Given the description of an element on the screen output the (x, y) to click on. 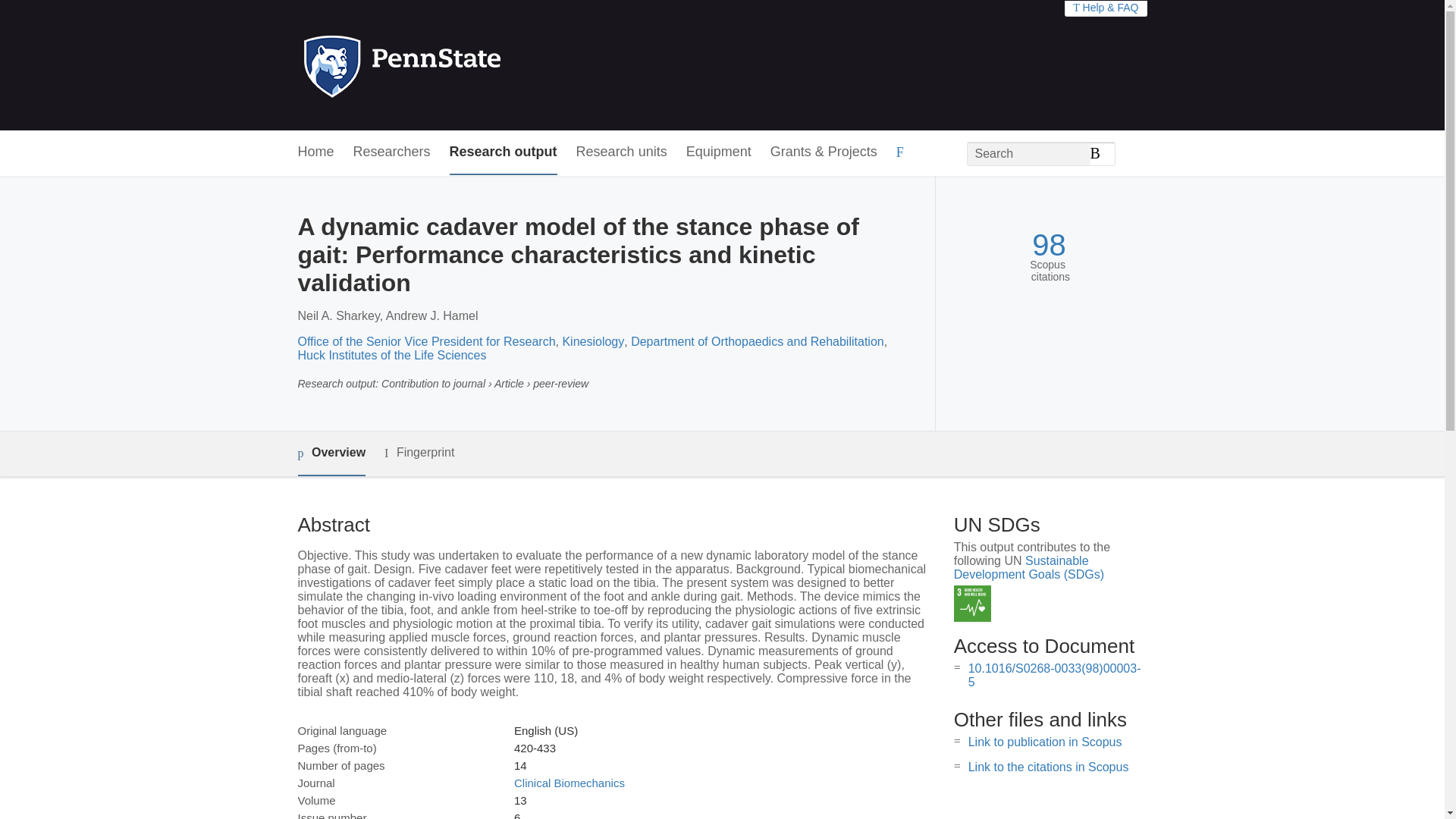
Research output (503, 152)
Equipment (718, 152)
Overview (331, 453)
Link to the citations in Scopus (1048, 766)
Department of Orthopaedics and Rehabilitation (756, 341)
Research units (621, 152)
Researchers (391, 152)
Office of the Senior Vice President for Research (425, 341)
Clinical Biomechanics (568, 782)
Link to publication in Scopus (1045, 741)
Kinesiology (593, 341)
SDG 3 - Good Health and Well-being (972, 603)
Fingerprint (419, 453)
Penn State Home (467, 65)
